Given the description of an element on the screen output the (x, y) to click on. 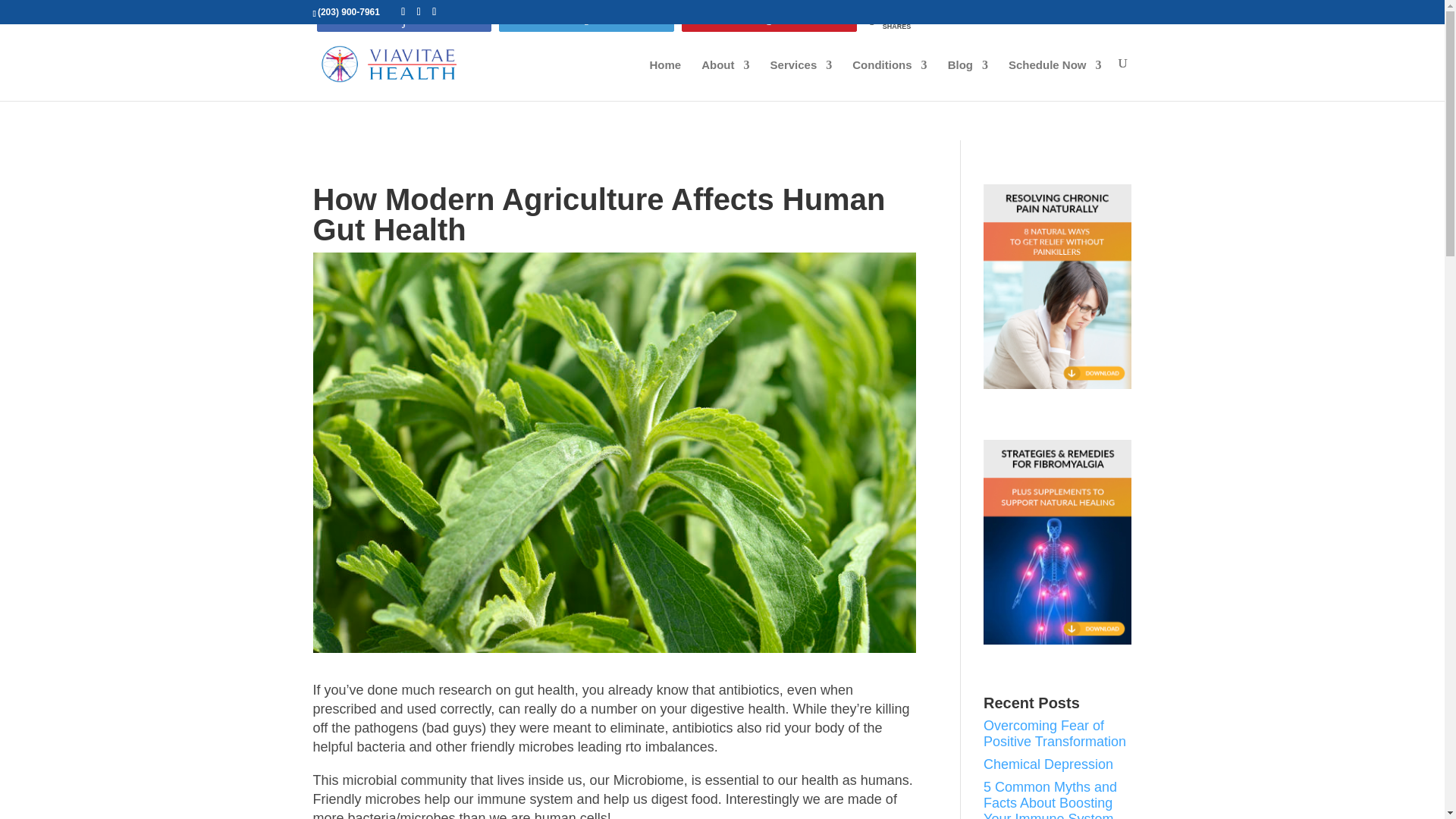
Blog (967, 79)
Conditions (888, 79)
Services (801, 79)
About (725, 79)
Schedule Now (1055, 79)
Home (665, 79)
